Given the description of an element on the screen output the (x, y) to click on. 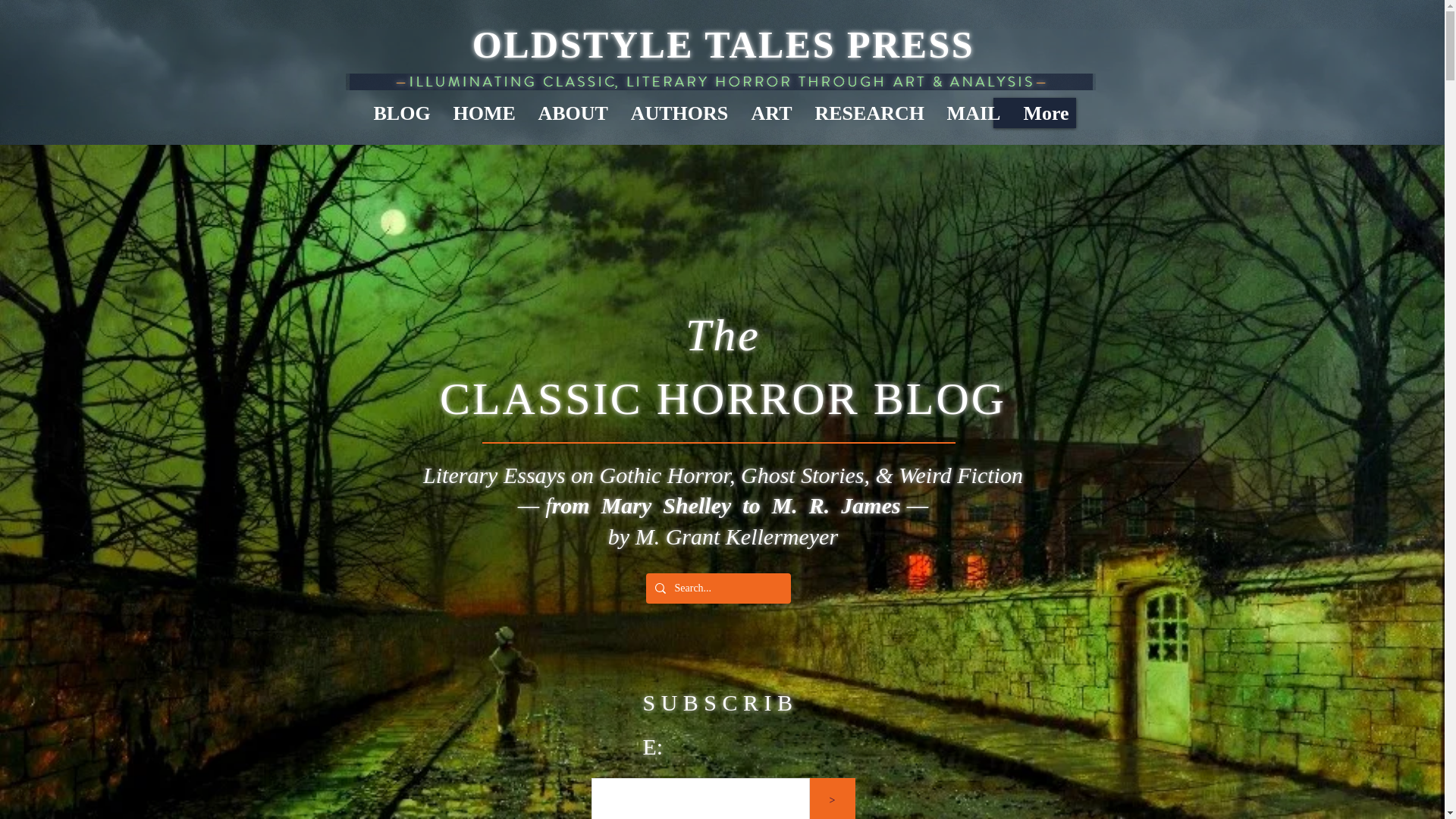
AUTHORS (678, 112)
RESEARCH (869, 112)
HOME (483, 112)
ABOUT (571, 112)
ART (771, 112)
OLDSTYLE TALES PRESS (722, 44)
MAIL (973, 112)
BLOG (402, 112)
